Given the description of an element on the screen output the (x, y) to click on. 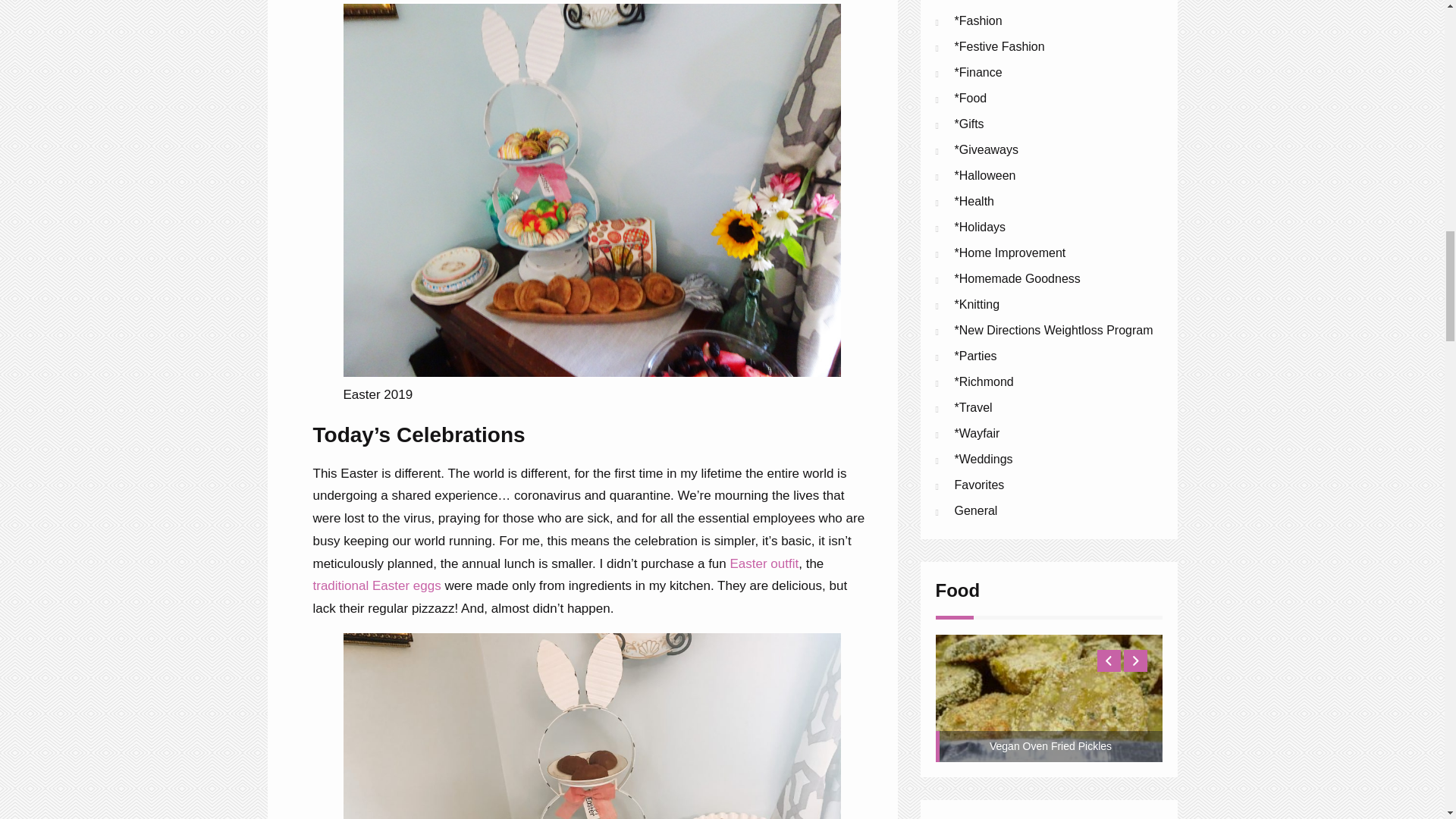
traditional Easter eggs (377, 585)
Easter outfit (763, 563)
